Given the description of an element on the screen output the (x, y) to click on. 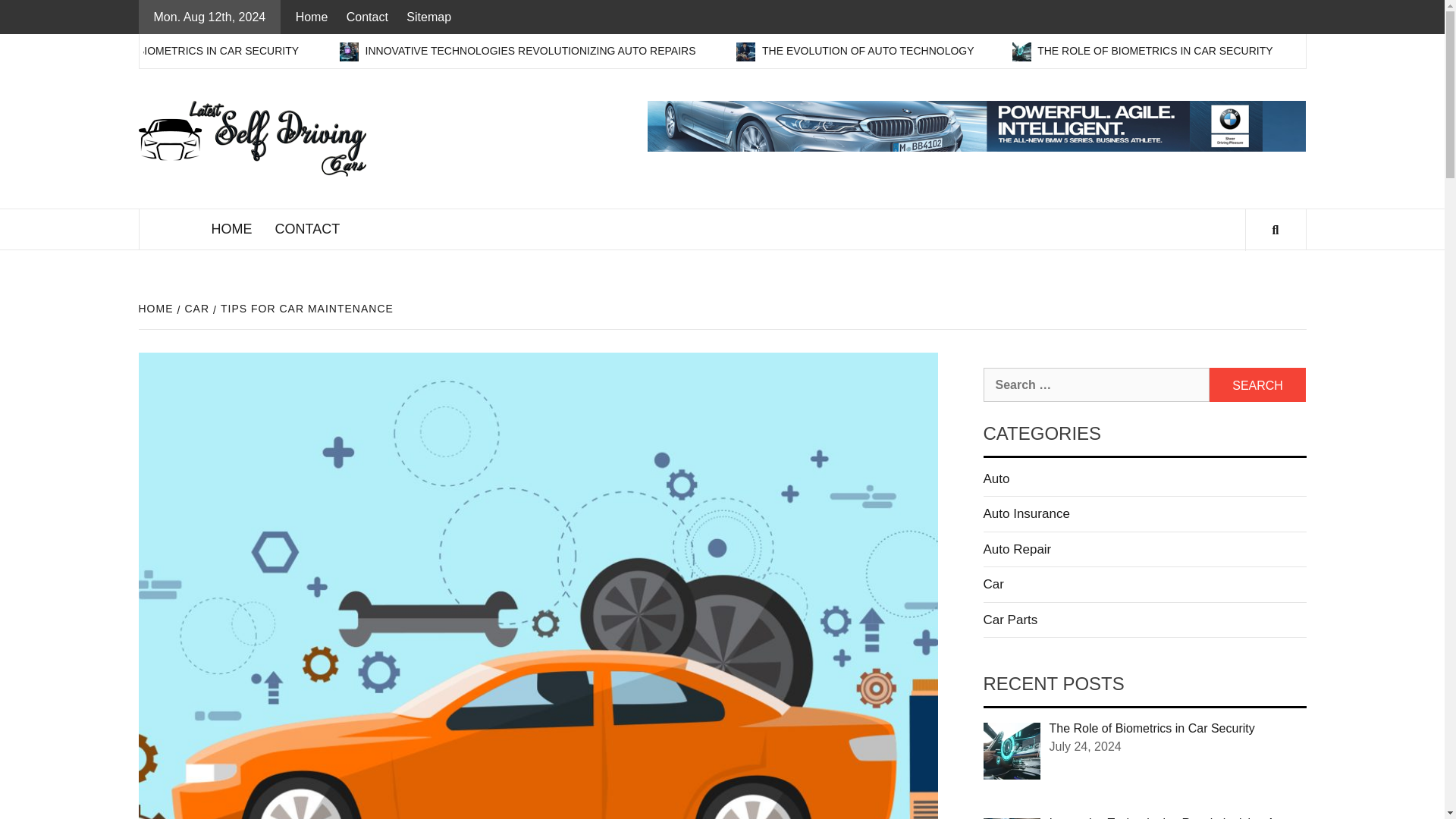
LATEST SELF DRIVING CARS (494, 171)
Sitemap (428, 17)
TIPS FOR CAR MAINTENANCE (304, 308)
THE ROLE OF BIOMETRICS IN CAR SECURITY (1257, 50)
Search (1257, 384)
CONTACT (307, 229)
THE ROLE OF BIOMETRICS IN CAR SECURITY (286, 50)
INNOVATIVE TECHNOLOGIES REVOLUTIONIZING AUTO REPAIRS (633, 50)
CAR (195, 308)
HOME (231, 229)
